Given the description of an element on the screen output the (x, y) to click on. 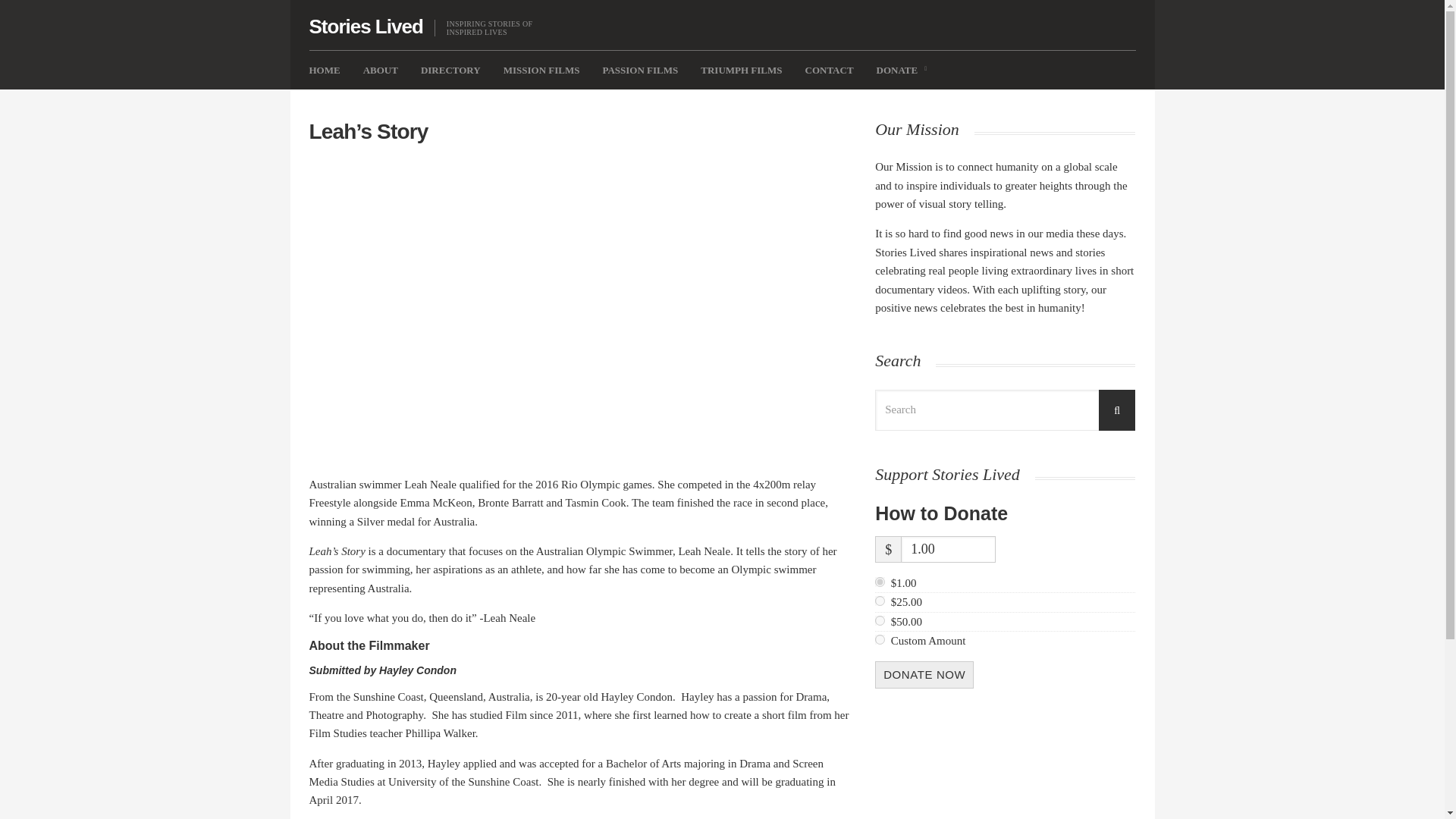
PASSION FILMS (640, 69)
25.00 (880, 601)
DONATE (901, 69)
ABOUT (379, 69)
DIRECTORY (450, 69)
CONTACT (829, 69)
1.00 (880, 582)
MISSION FILMS (541, 69)
Stories Lived (365, 26)
1.00 (948, 549)
DONATE NOW (924, 674)
HOME (324, 69)
50.00 (880, 620)
TRIUMPH FILMS (740, 69)
